Given the description of an element on the screen output the (x, y) to click on. 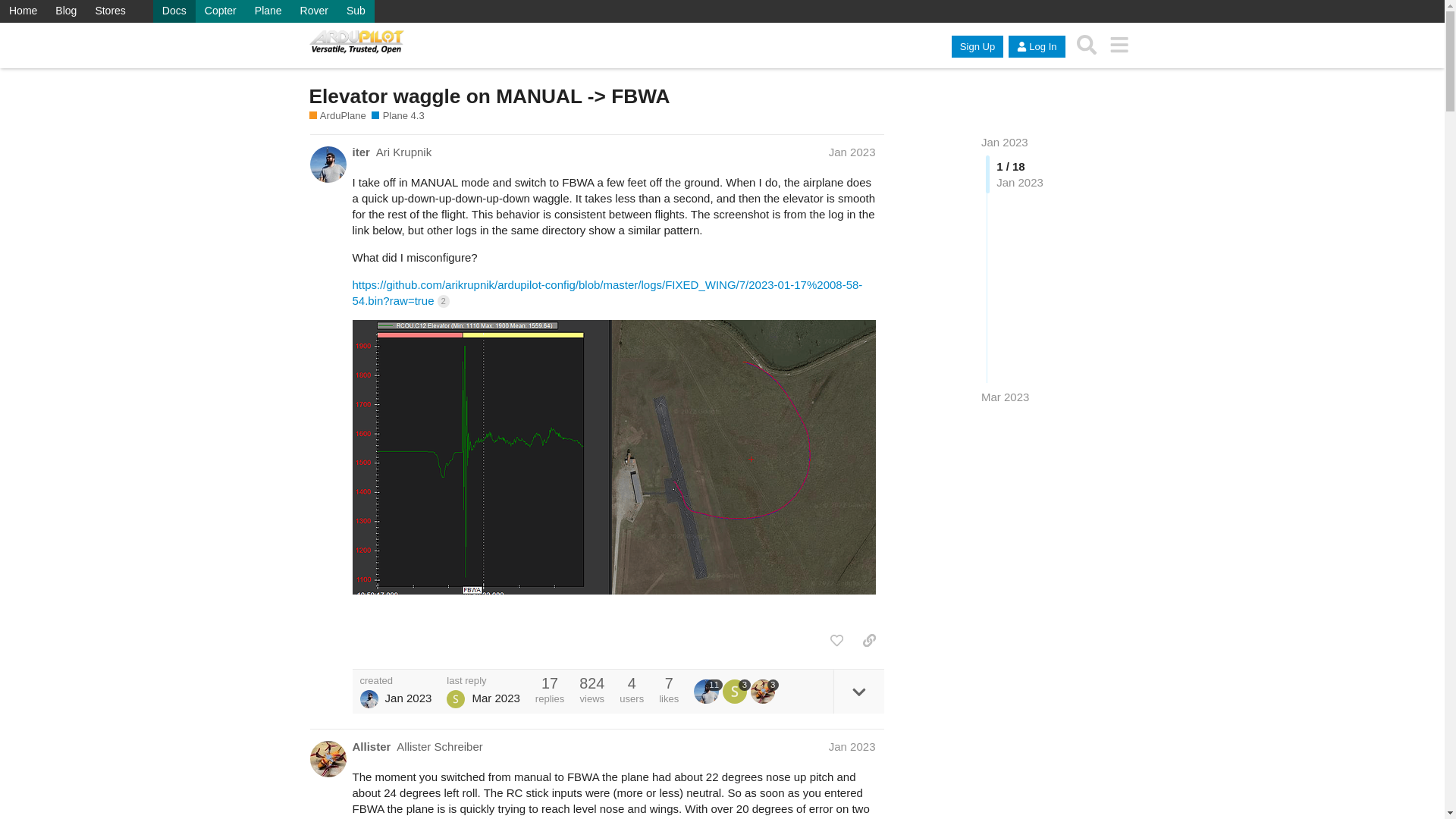
menu (1119, 44)
Post date (852, 151)
Sub (355, 11)
Ari Krupnik (402, 151)
Copter (220, 11)
Ari Krupnik (368, 699)
Search (1086, 44)
copy a link to this post to clipboard (869, 640)
3 (764, 691)
Docs (173, 11)
last reply (482, 680)
Stores (109, 11)
Jan 18, 2023 10:33 am (408, 697)
Allister Schreiber (438, 746)
2 clicks (443, 300)
